Given the description of an element on the screen output the (x, y) to click on. 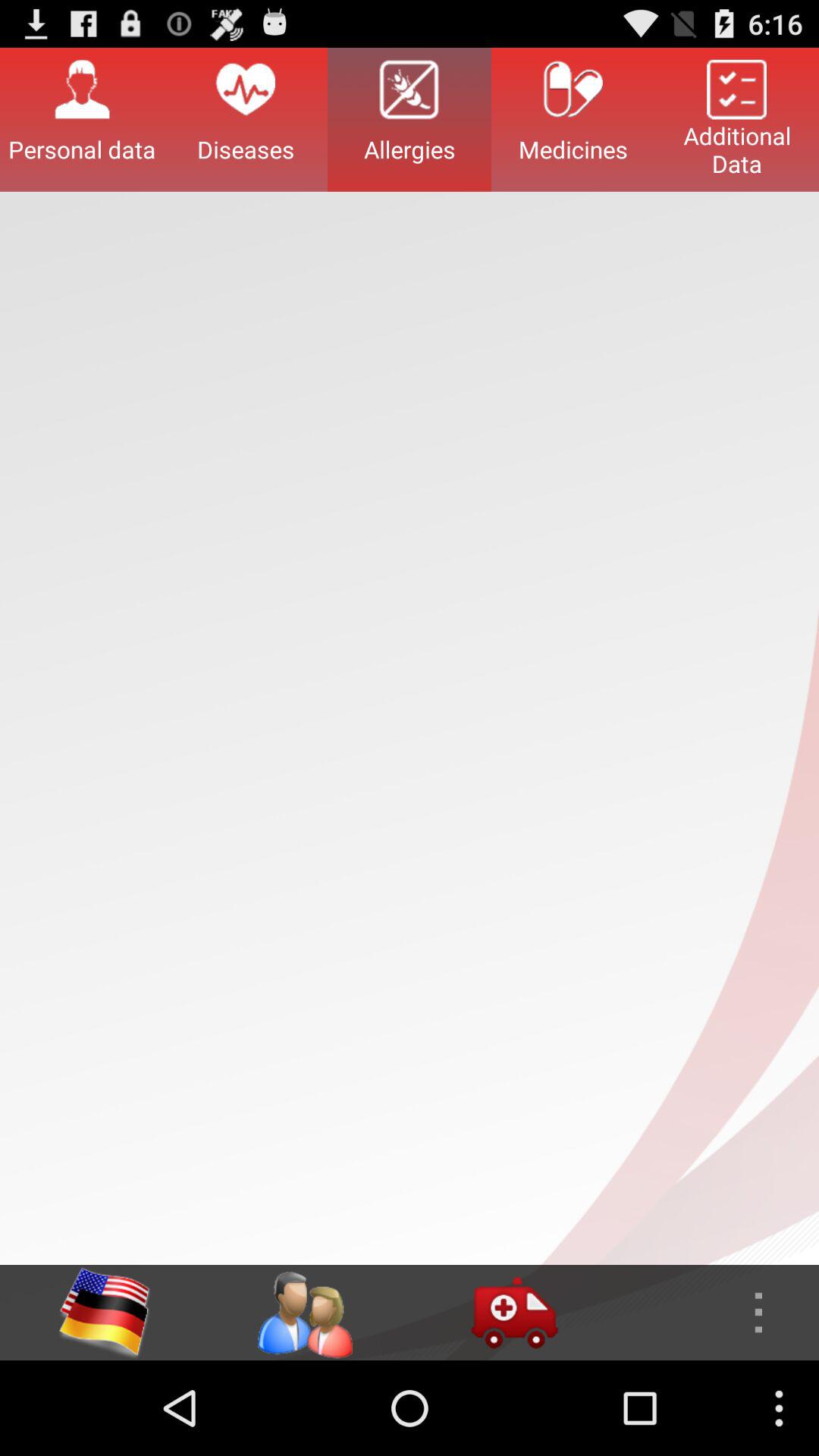
select add (514, 1312)
